Given the description of an element on the screen output the (x, y) to click on. 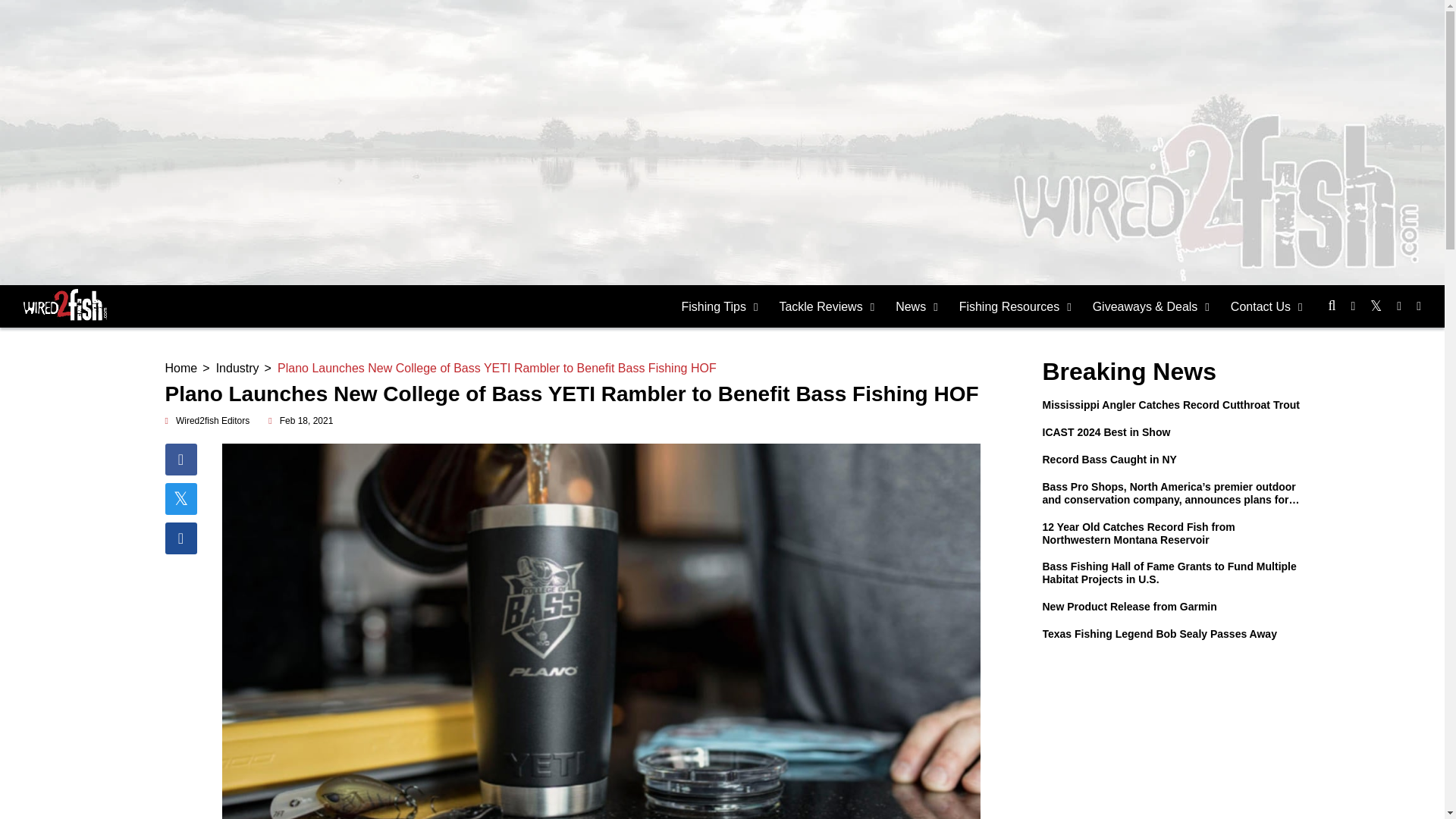
Fishing Tips (719, 306)
